Given the description of an element on the screen output the (x, y) to click on. 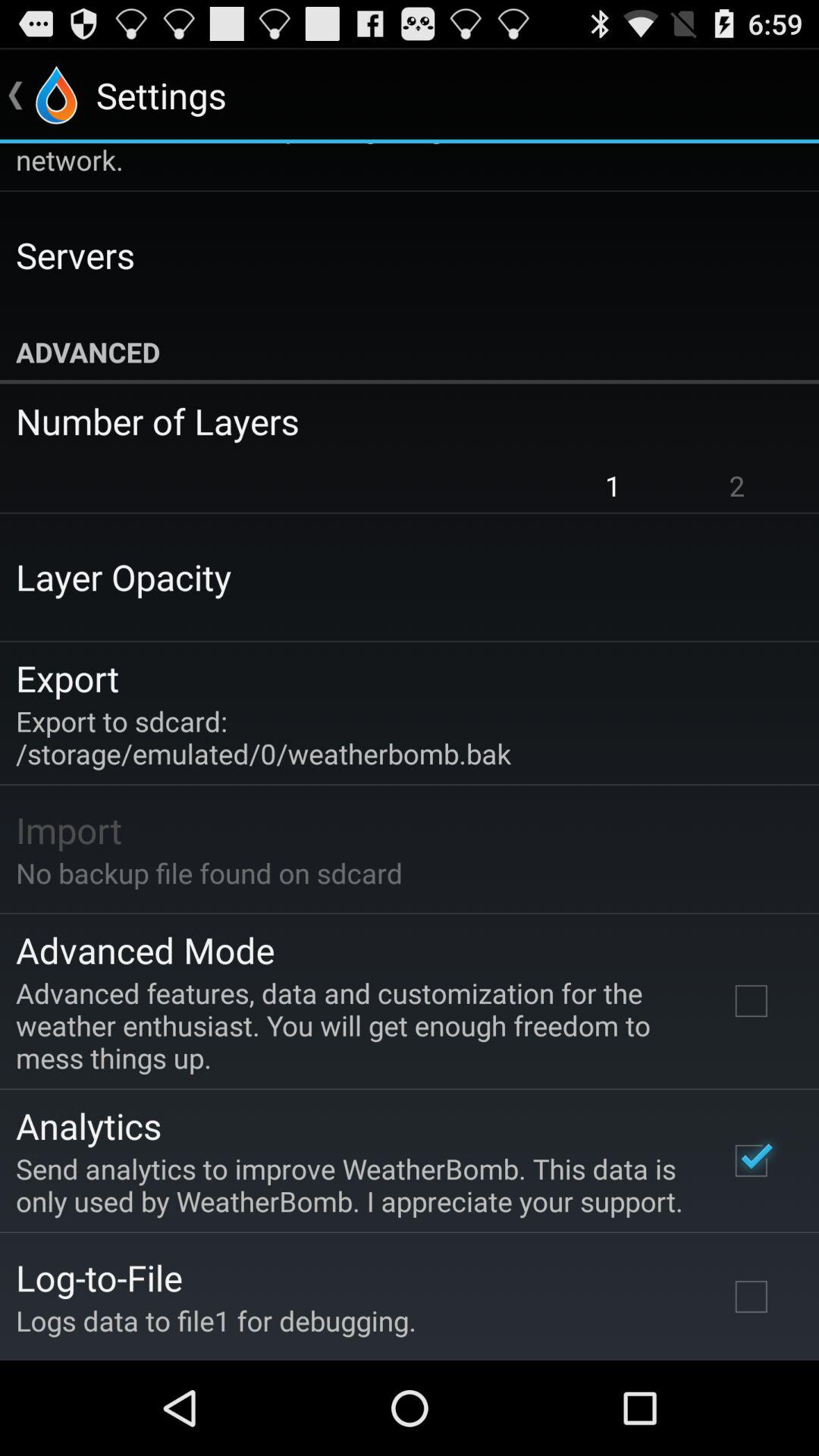
click icon next to the 1 item (737, 485)
